Given the description of an element on the screen output the (x, y) to click on. 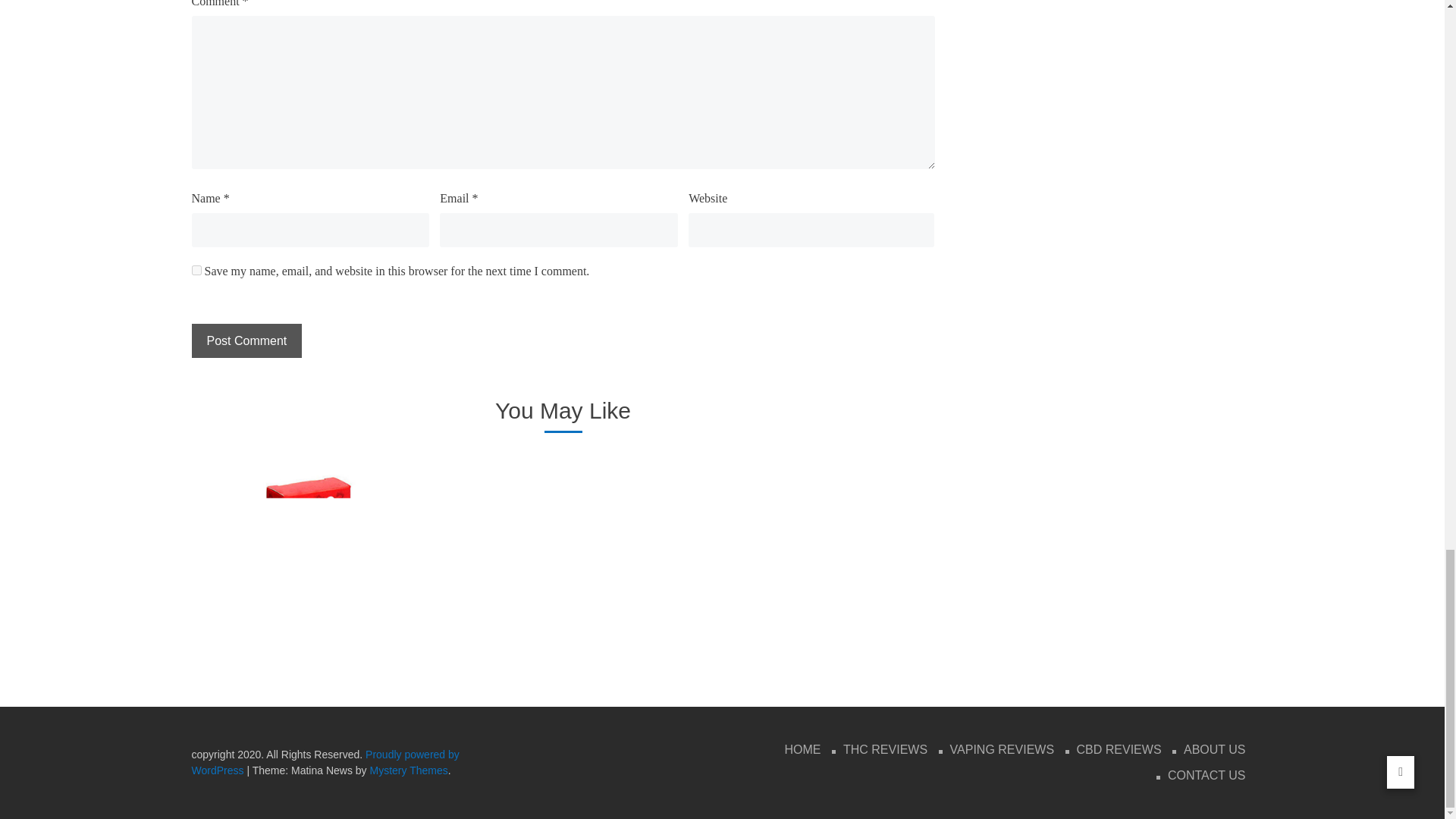
Mystery Themes (408, 770)
THC REVIEWS (885, 750)
Post Comment (245, 340)
ABOUT US (1214, 750)
VAPING REVIEWS (1002, 750)
CONTACT US (1206, 775)
Proudly powered by WordPress (324, 762)
HOME (802, 750)
Post Comment (245, 340)
CBD REVIEWS (1119, 750)
